Given the description of an element on the screen output the (x, y) to click on. 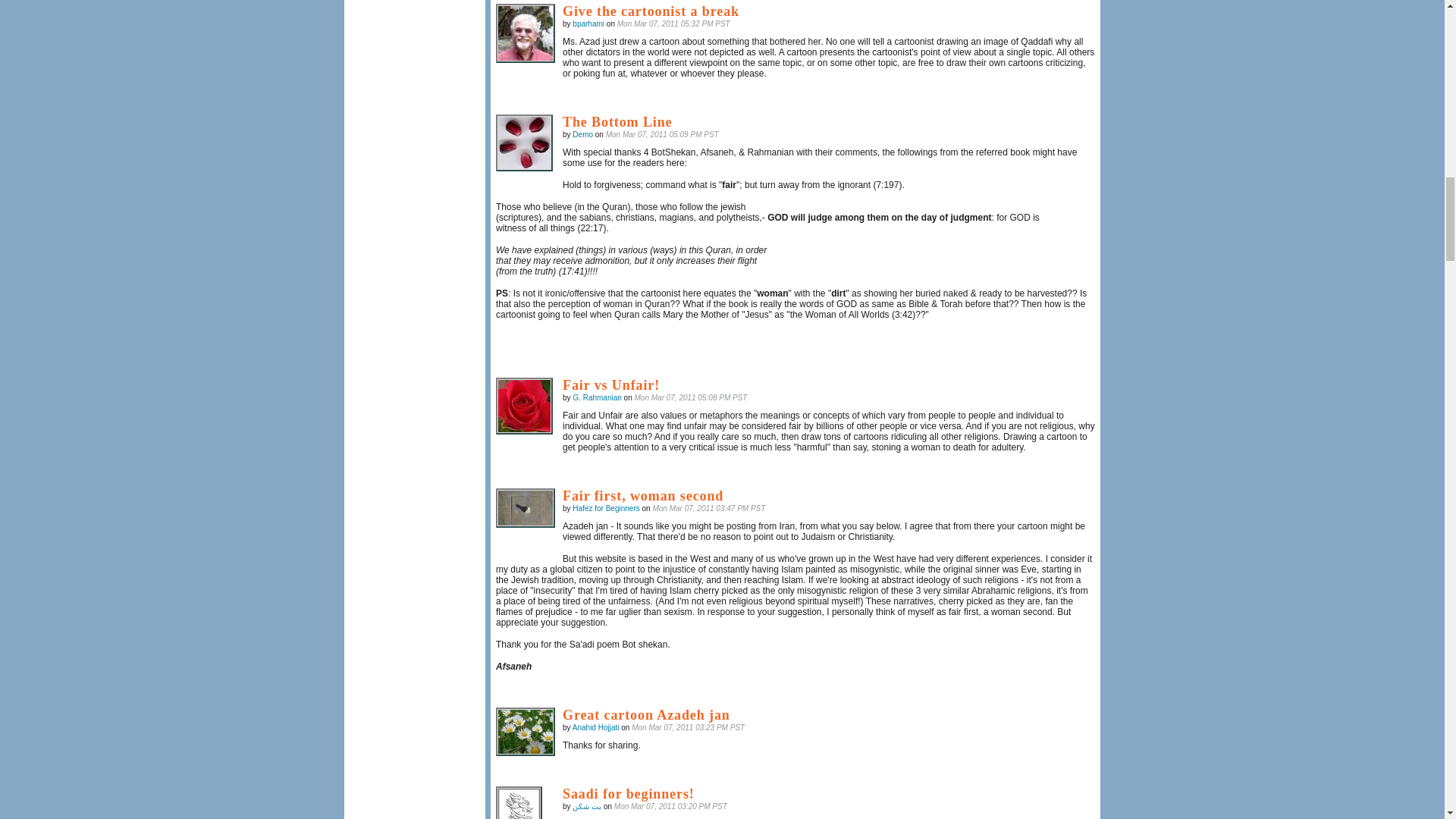
bparhami (525, 33)
Demo (582, 134)
View user profile. (588, 23)
bparhami (588, 23)
Demo (524, 142)
